Given the description of an element on the screen output the (x, y) to click on. 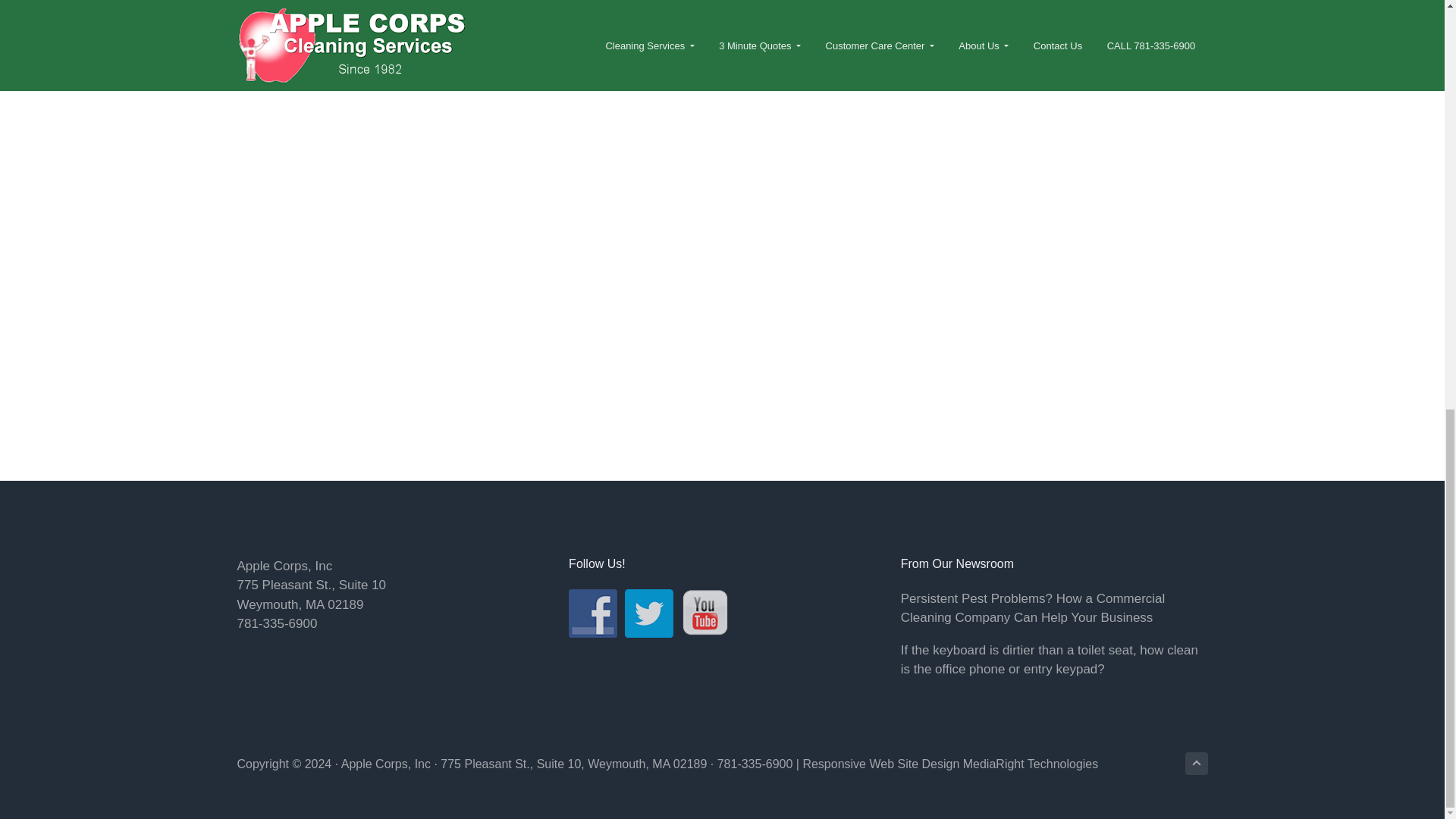
Follow Us on Facebook (593, 613)
Follow Us on Twitter (648, 613)
Follow Us on YouTube (705, 613)
